Given the description of an element on the screen output the (x, y) to click on. 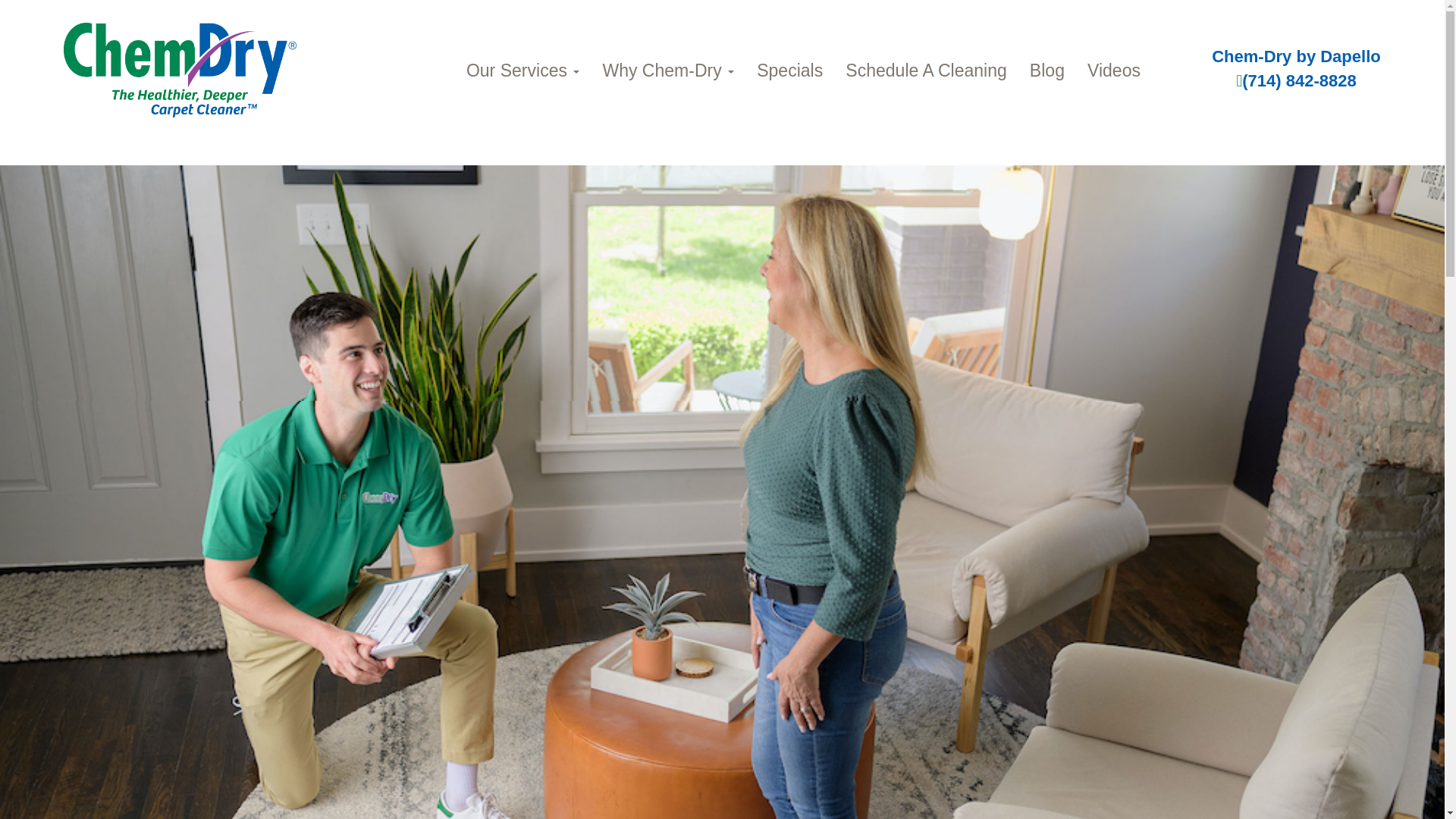
Why Chem-Dry (668, 70)
Chem-Dry by Dapello Carpet Cleaning (180, 69)
Skip to main content (55, 124)
Call Chem-Dry by Dapello (1296, 80)
Schedule A Cleaning (925, 70)
Blog (1046, 70)
Specials (789, 70)
Our Services (522, 70)
Videos (1113, 70)
